Given the description of an element on the screen output the (x, y) to click on. 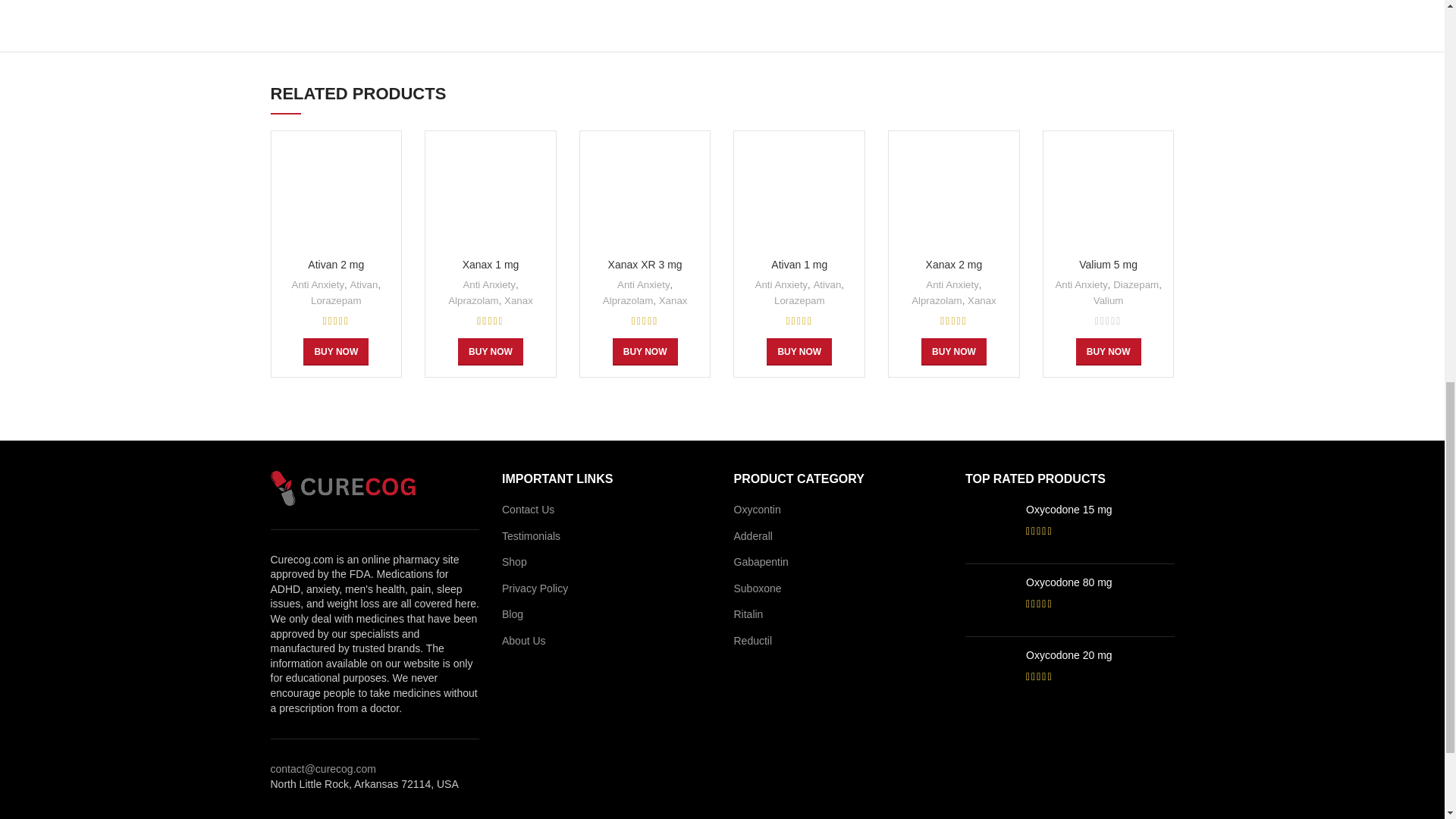
Oxycodone 15 mg (1100, 509)
Oxycodone 15 mg (989, 527)
Oxycodone 80 mg (1100, 582)
Oxycodone 20 mg (1100, 655)
Oxycodone 20 mg (989, 672)
Oxycodone 80 mg (989, 599)
